Given the description of an element on the screen output the (x, y) to click on. 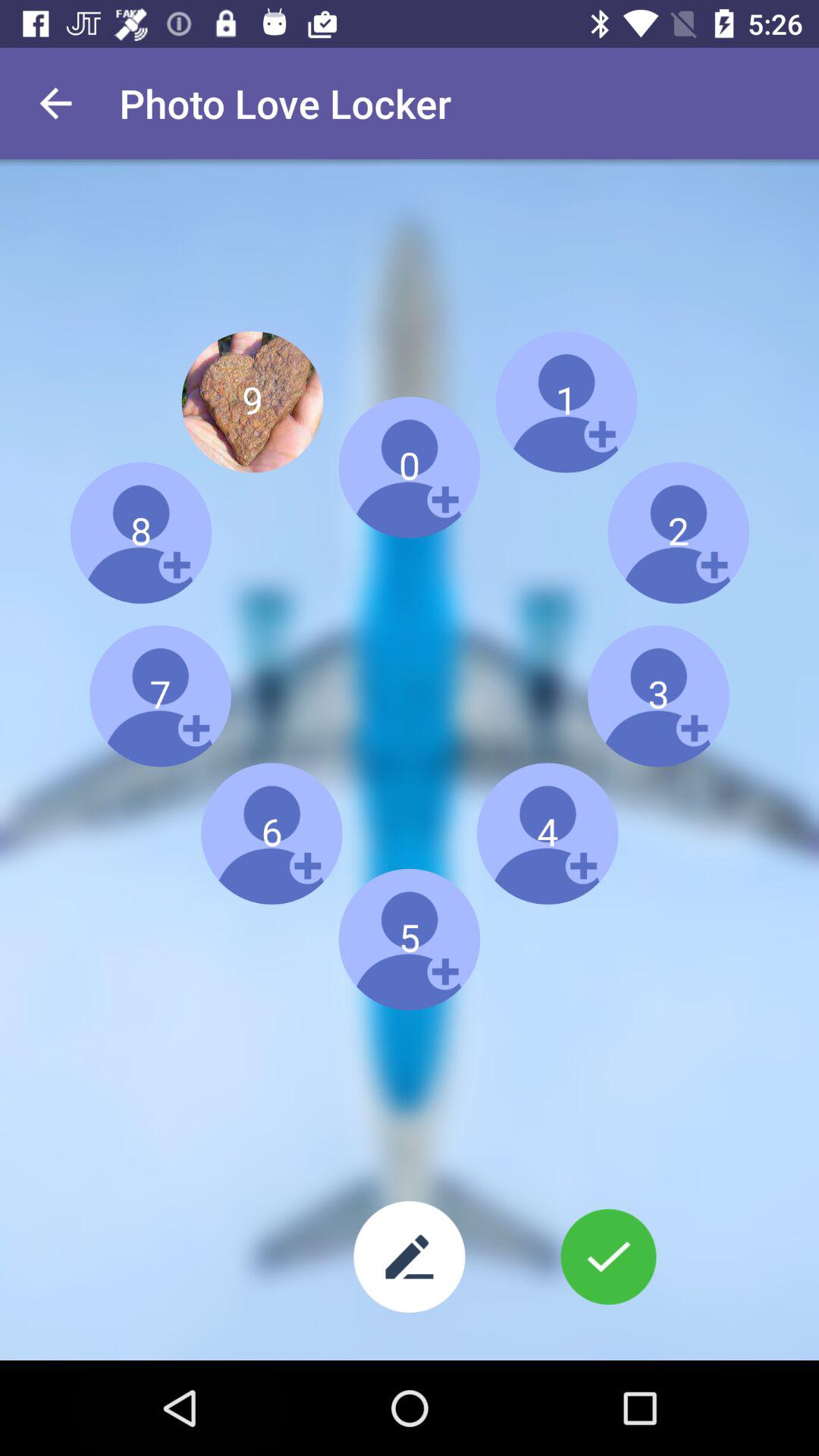
add text (409, 1256)
